Given the description of an element on the screen output the (x, y) to click on. 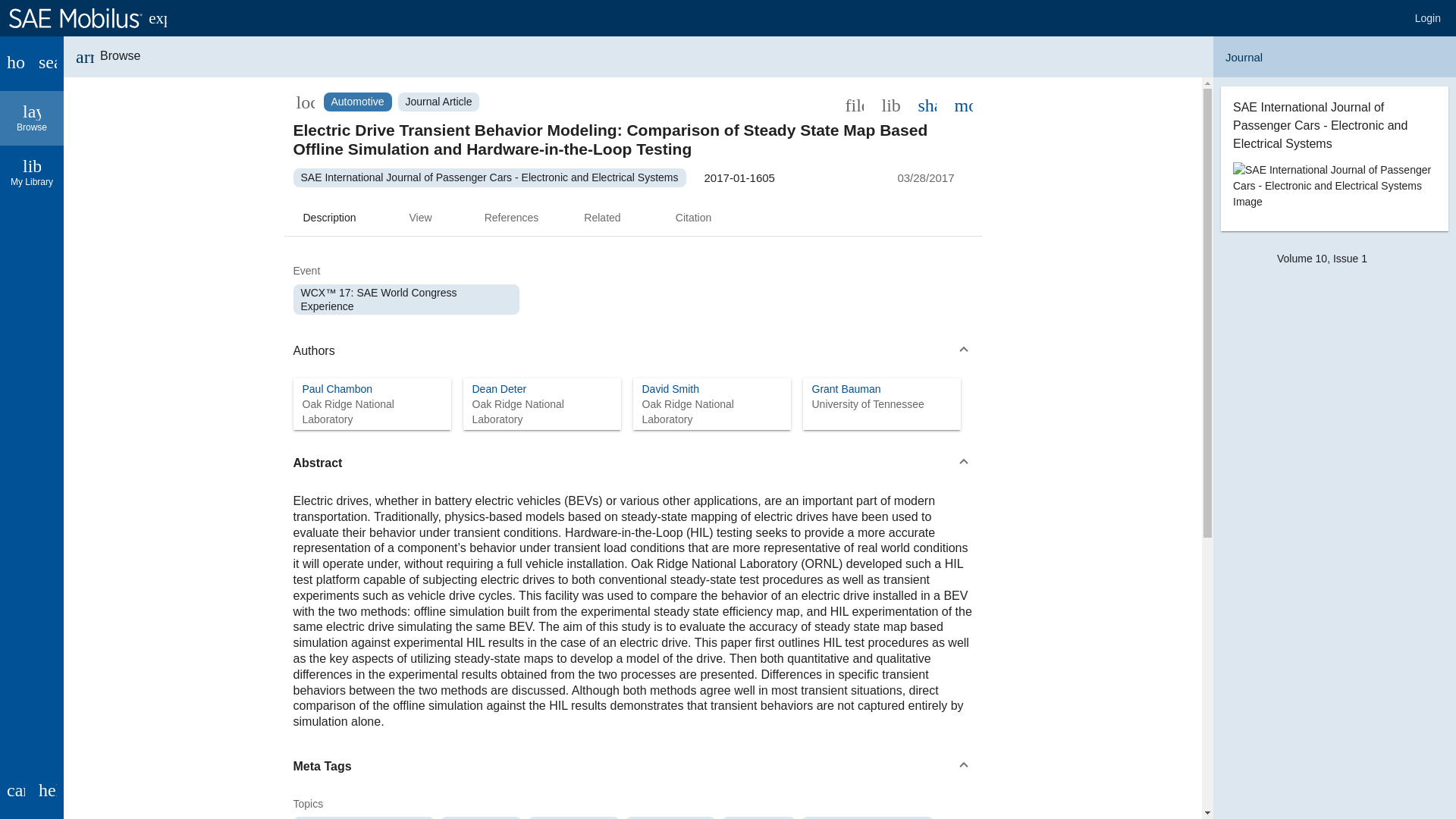
Dean Deter (498, 388)
Description (328, 217)
lock (304, 101)
Oak Ridge National Laboratory (371, 411)
View (32, 117)
Paul Chambon (419, 217)
share (336, 388)
Related (926, 104)
